Given the description of an element on the screen output the (x, y) to click on. 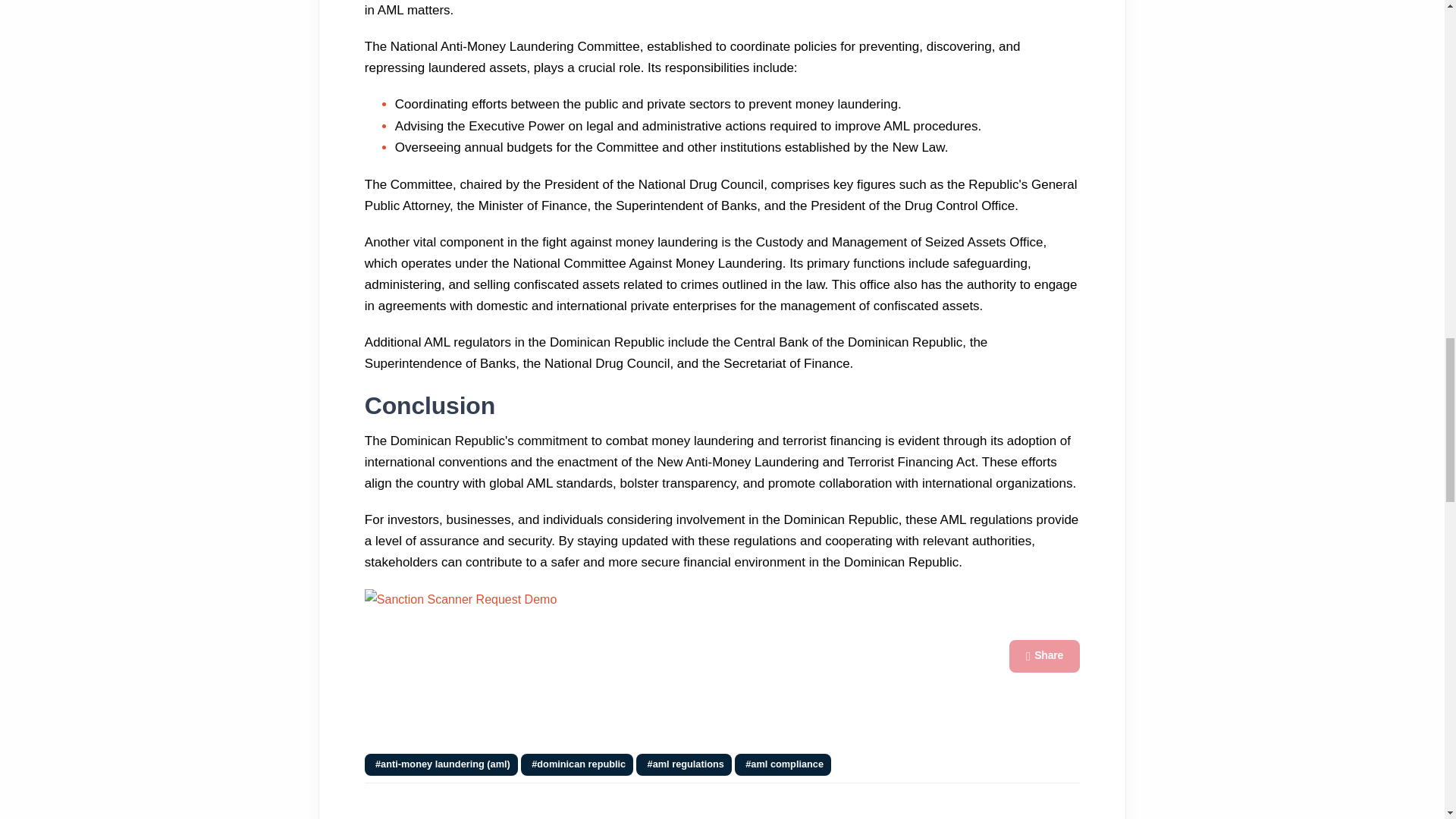
Form 0 (478, 686)
